Given the description of an element on the screen output the (x, y) to click on. 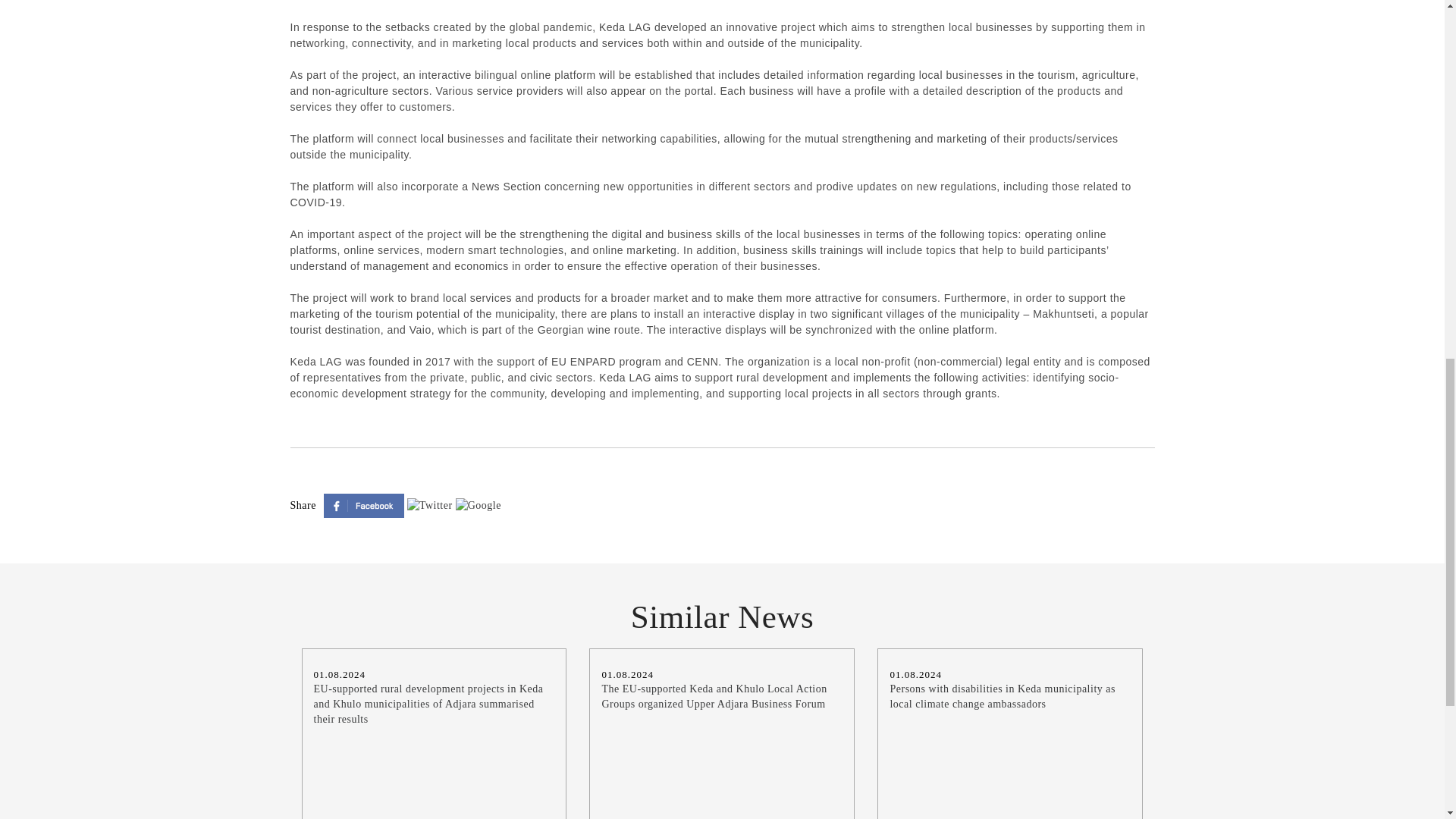
Twitter (431, 504)
Google (477, 504)
FaceBook (365, 504)
